Given the description of an element on the screen output the (x, y) to click on. 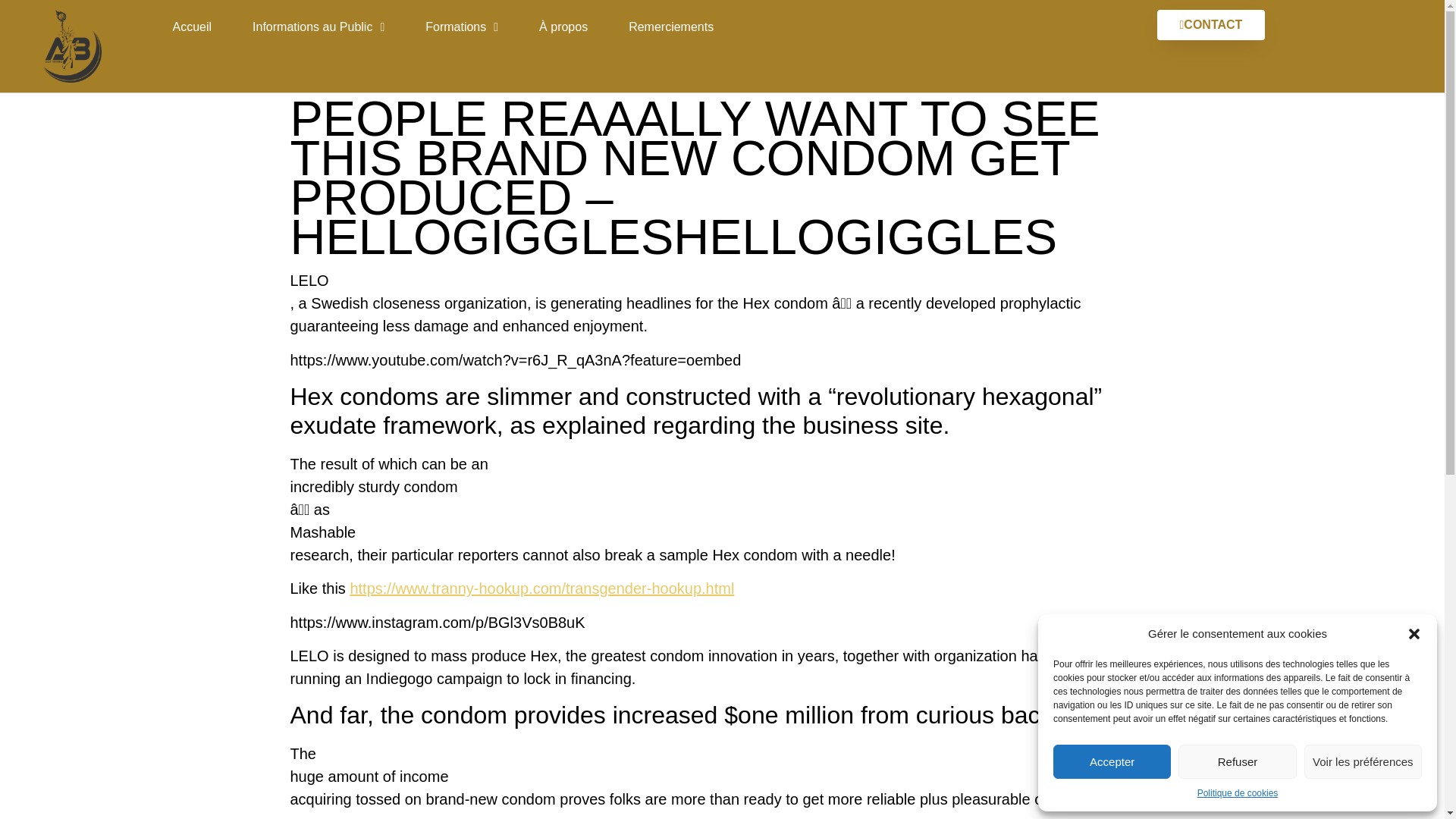
Formations (461, 27)
Accepter (1111, 761)
Accueil (191, 27)
Politique de cookies (1237, 793)
Informations au Public (317, 27)
Remerciements (670, 27)
Refuser (1236, 761)
